Given the description of an element on the screen output the (x, y) to click on. 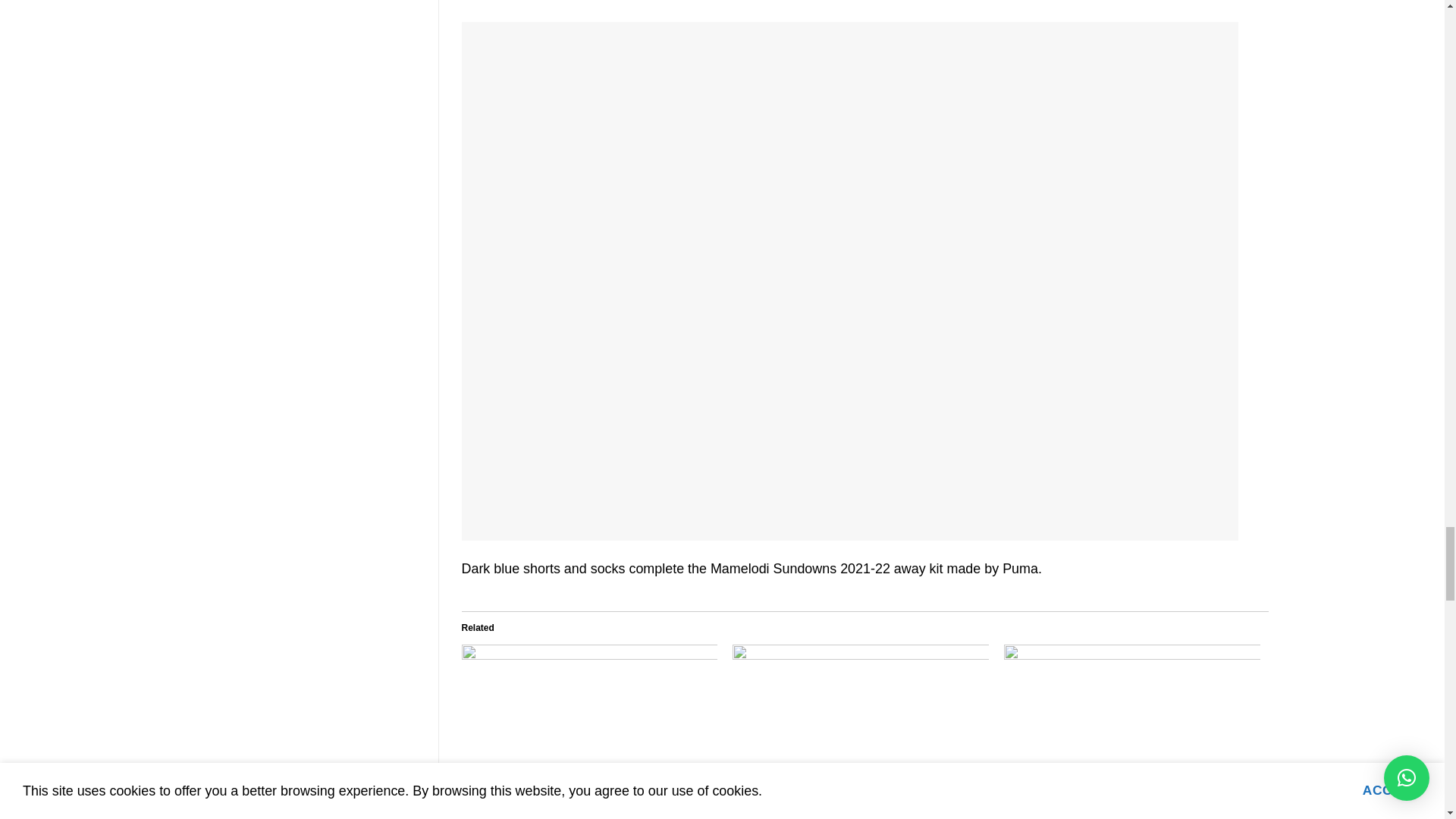
Puma Mamelodi Sundowns Kits 2019-20 (1132, 717)
Puma Mamelodi Sundowns Kits 2019-20 (1099, 798)
Mamelodi Sundowns 2022-23 Puma Kits Released (580, 798)
Mamelodi Sundowns 2024-25 Puma Home Shirt Leaked (860, 717)
Mamelodi Sundowns 2022-23 Puma Kits Released (589, 717)
Mamelodi Sundowns 2024-25 Puma Home Shirt Leaked (845, 805)
